Given the description of an element on the screen output the (x, y) to click on. 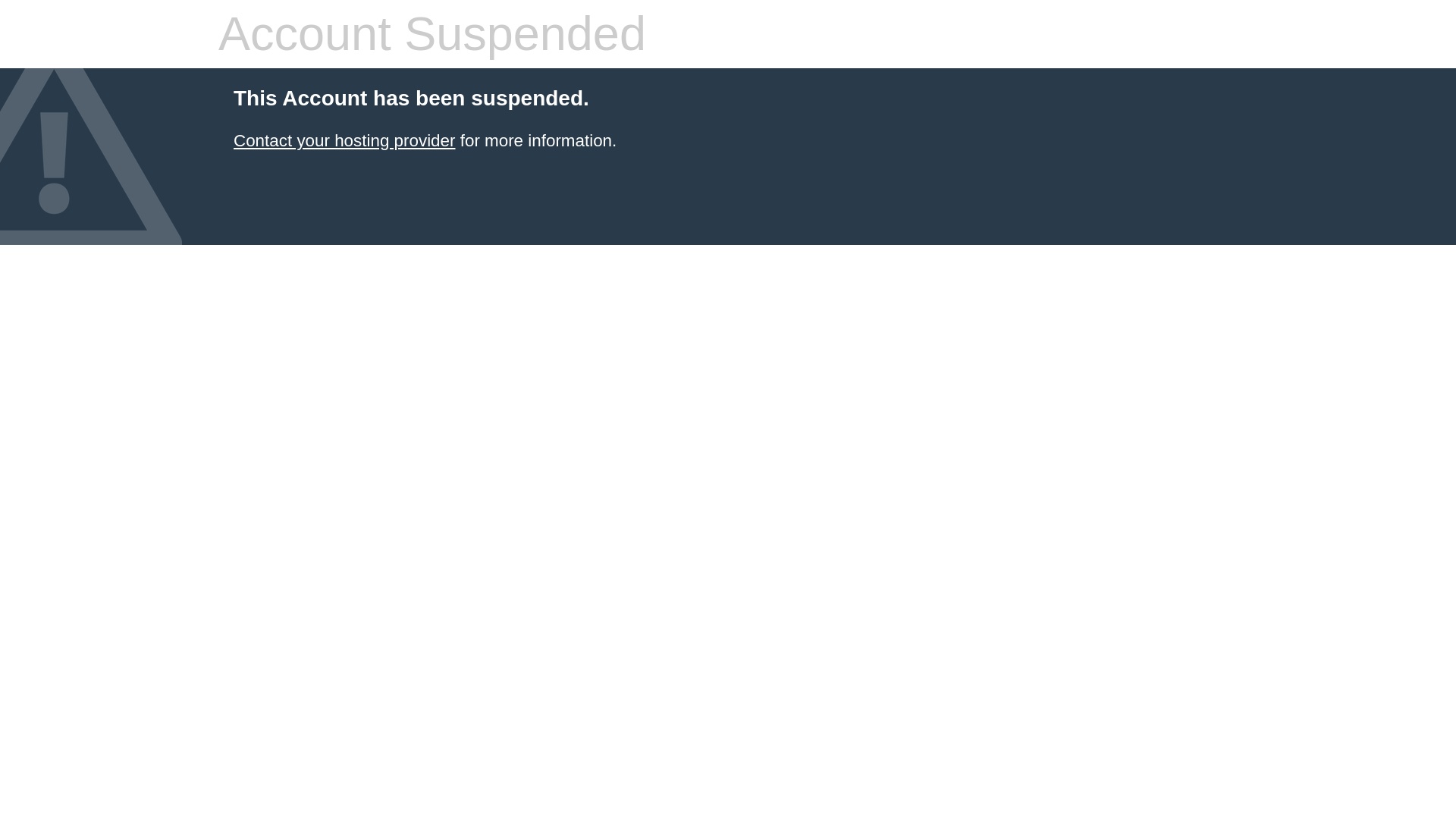
Contact your hosting provider (343, 140)
